Given the description of an element on the screen output the (x, y) to click on. 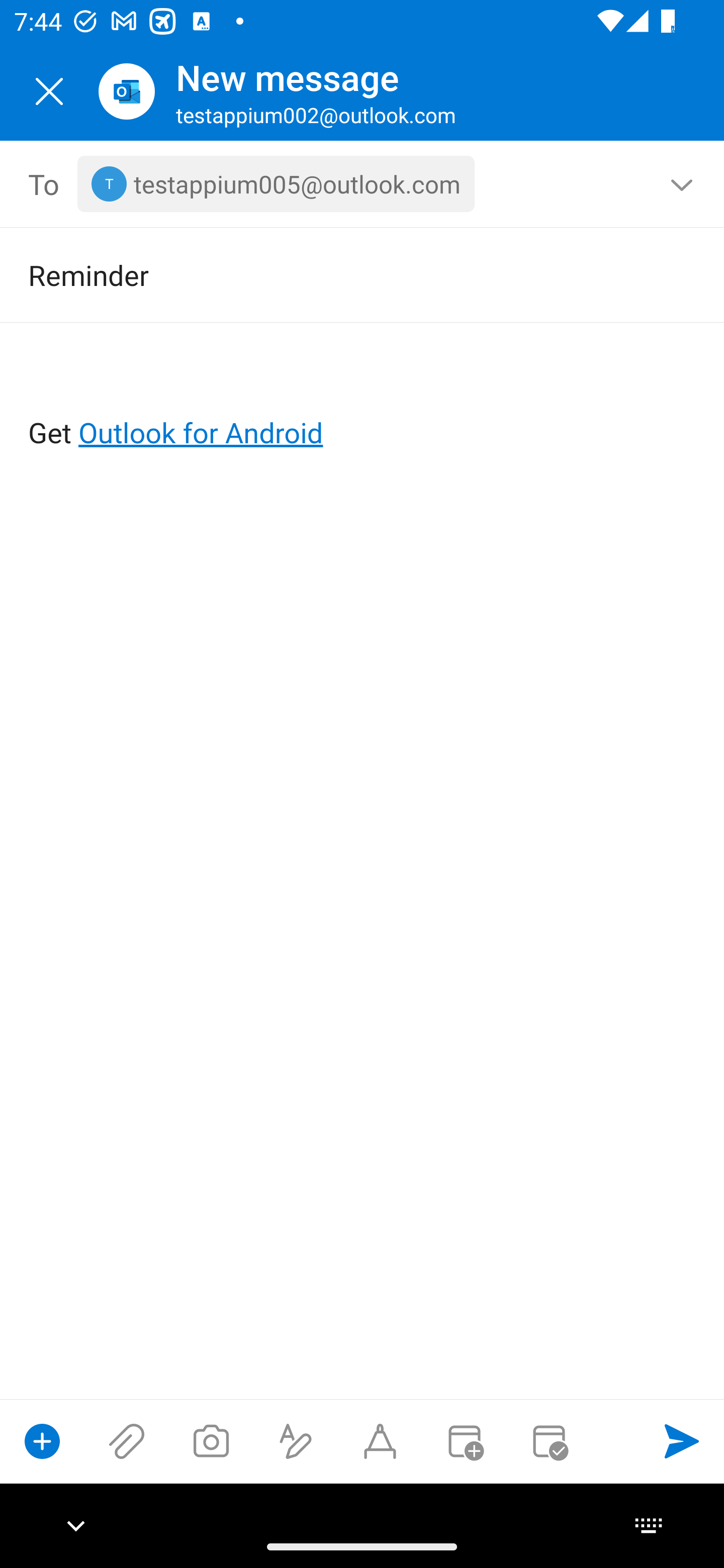
Close (49, 91)
Reminder (333, 274)


Get Outlook for Android (363, 400)
Show compose options (42, 1440)
Attach files (126, 1440)
Take a photo (210, 1440)
Show formatting options (295, 1440)
Start Ink compose (380, 1440)
Convert to event (464, 1440)
Send availability (548, 1440)
Send (681, 1440)
